Given the description of an element on the screen output the (x, y) to click on. 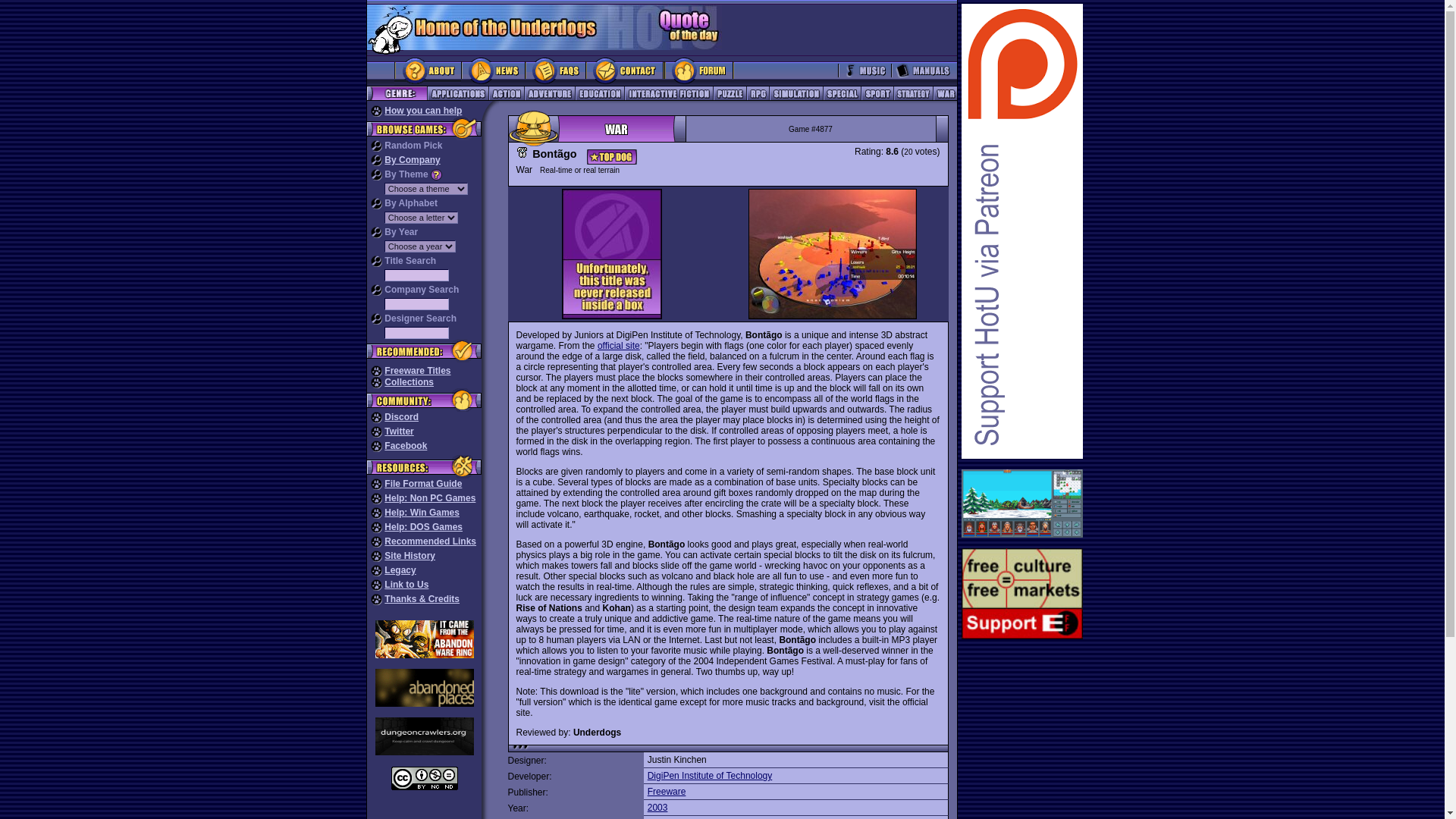
Twitter (398, 430)
Link to Us (406, 584)
Legacy (399, 570)
Help: Non PC Games (430, 498)
Discord (401, 416)
How you can help (422, 110)
Random Pick (413, 145)
By Company (411, 159)
Facebook (405, 445)
Collections (408, 381)
Recommended Links (430, 541)
Freeware Titles (416, 370)
File Format Guide (422, 483)
Site History (409, 555)
Help: DOS Games (423, 526)
